Given the description of an element on the screen output the (x, y) to click on. 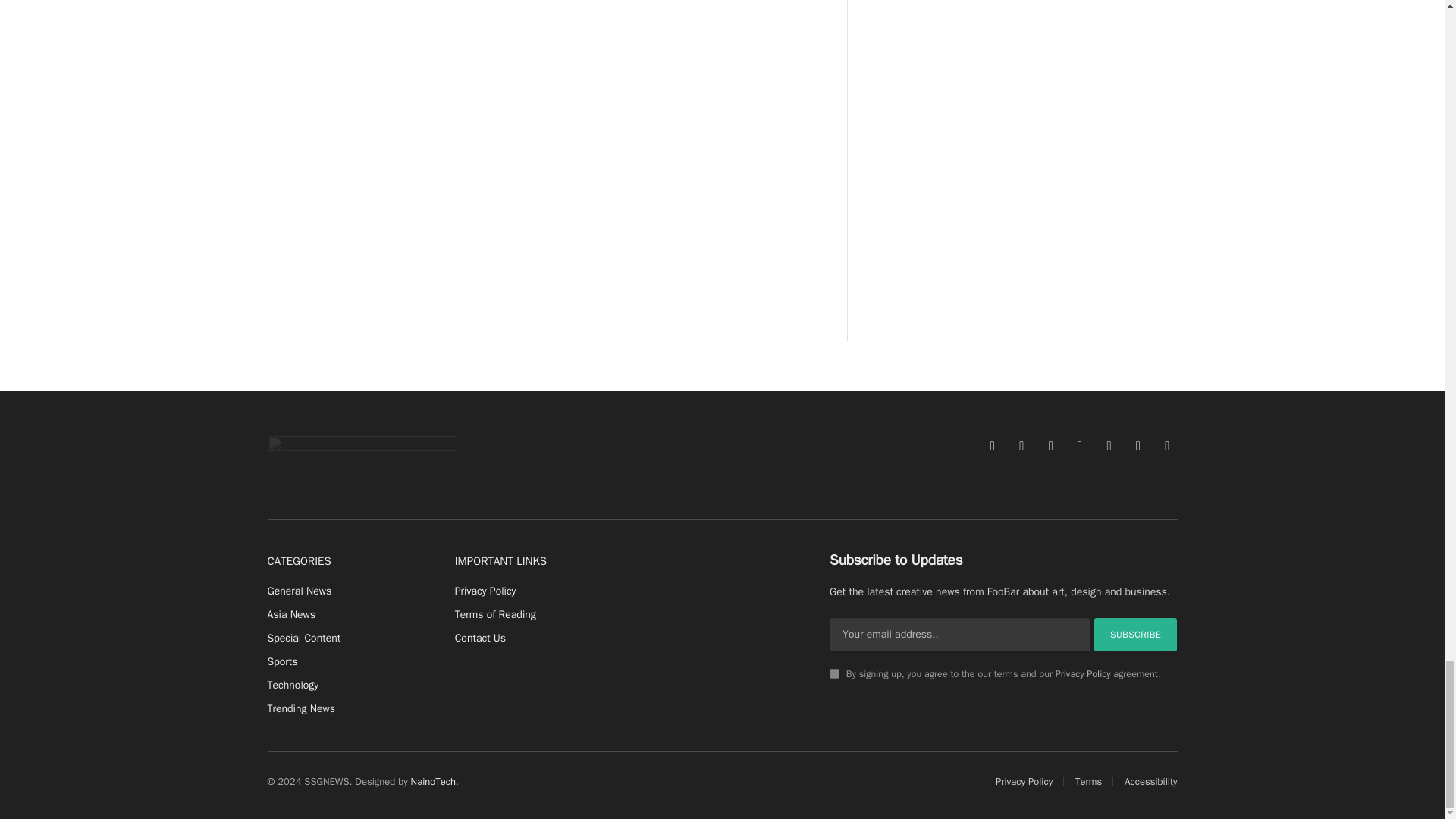
on (834, 673)
Subscribe (1135, 634)
